Given the description of an element on the screen output the (x, y) to click on. 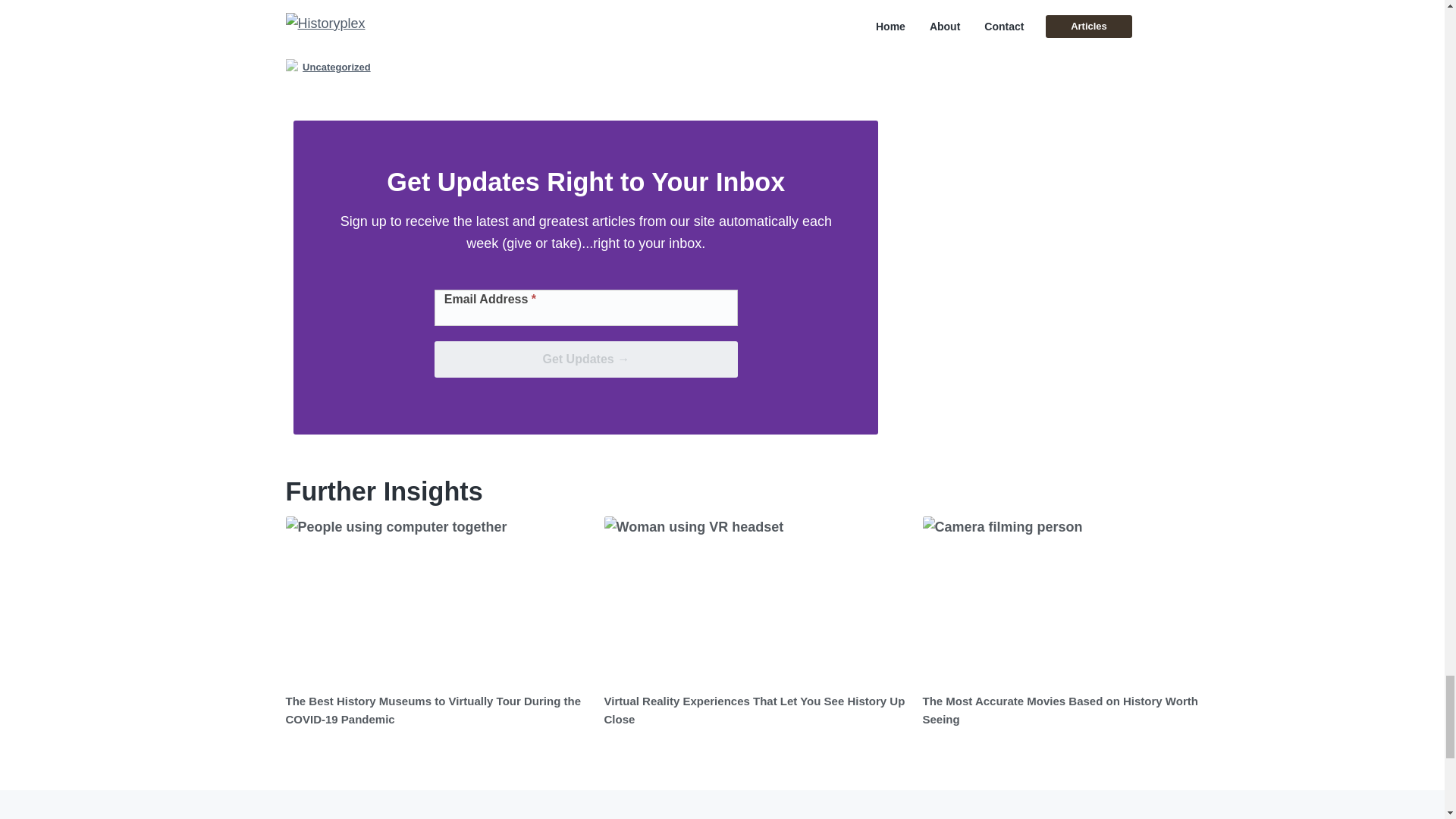
Uncategorized (336, 66)
The Most Accurate Movies Based on History Worth Seeing (1058, 709)
